Given the description of an element on the screen output the (x, y) to click on. 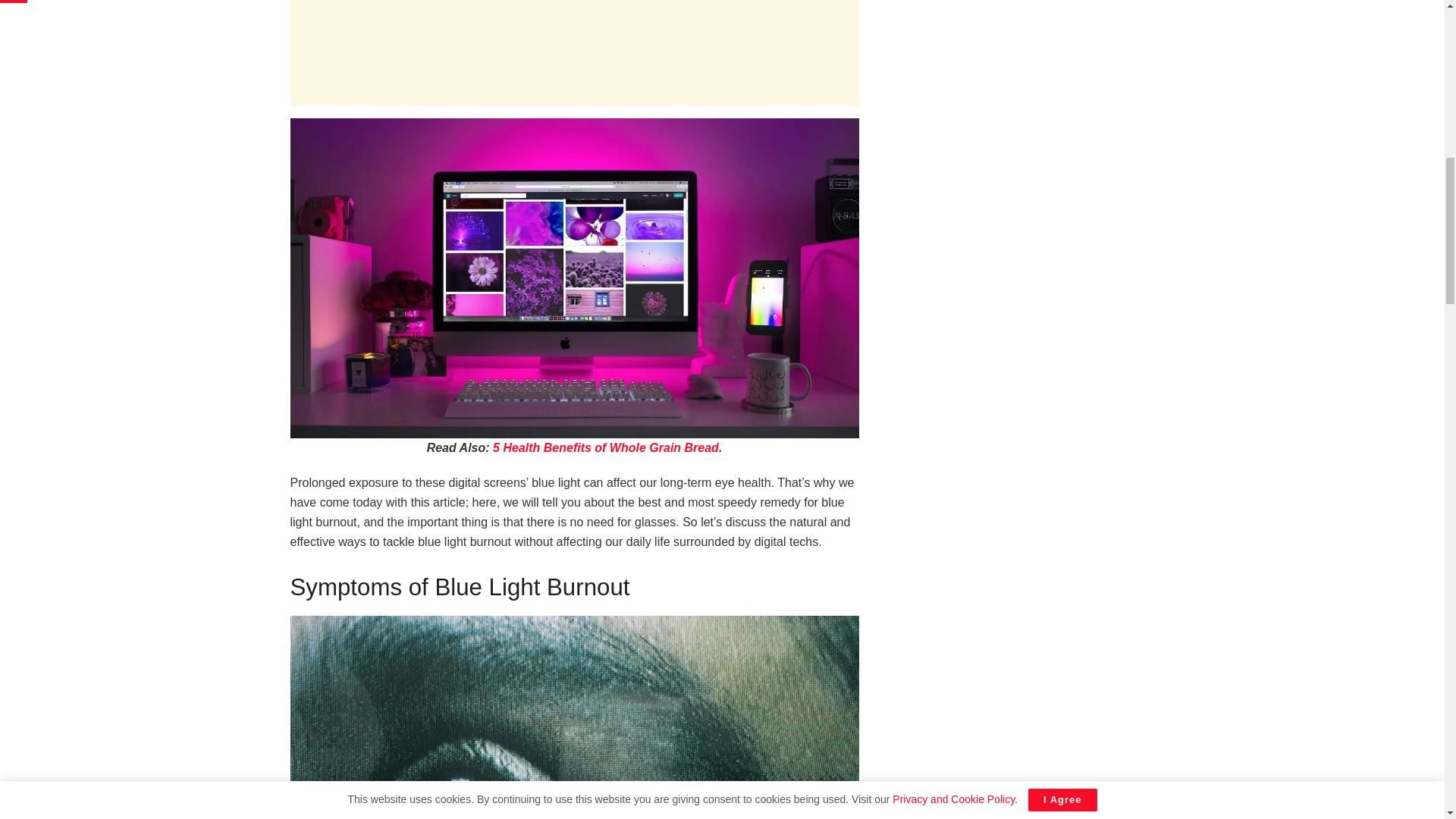
Advertisement (574, 53)
